Given the description of an element on the screen output the (x, y) to click on. 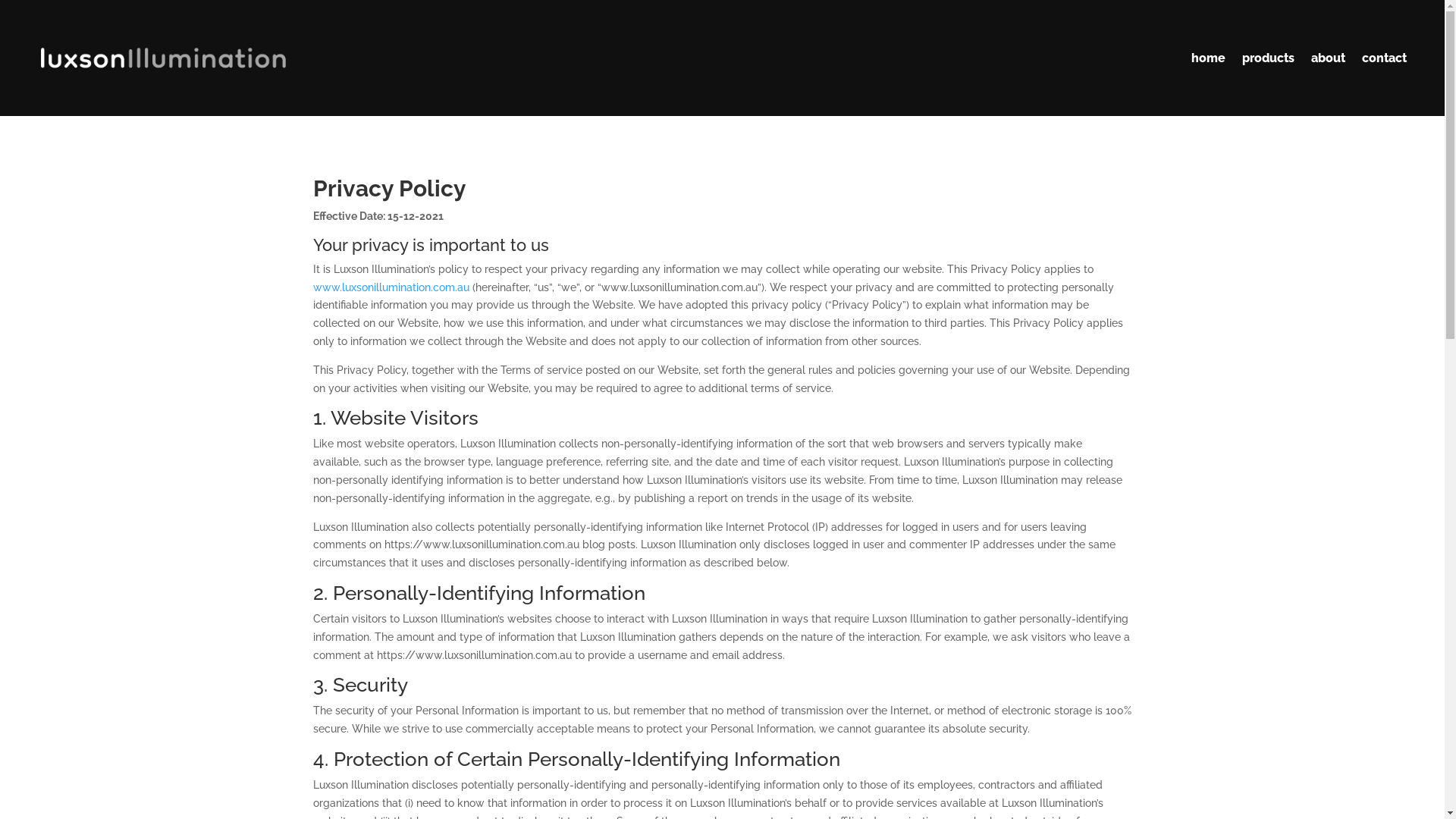
contact Element type: text (1383, 57)
products Element type: text (1268, 57)
www.luxsonillumination.com.au Element type: text (390, 287)
about Element type: text (1328, 57)
home Element type: text (1208, 57)
